Given the description of an element on the screen output the (x, y) to click on. 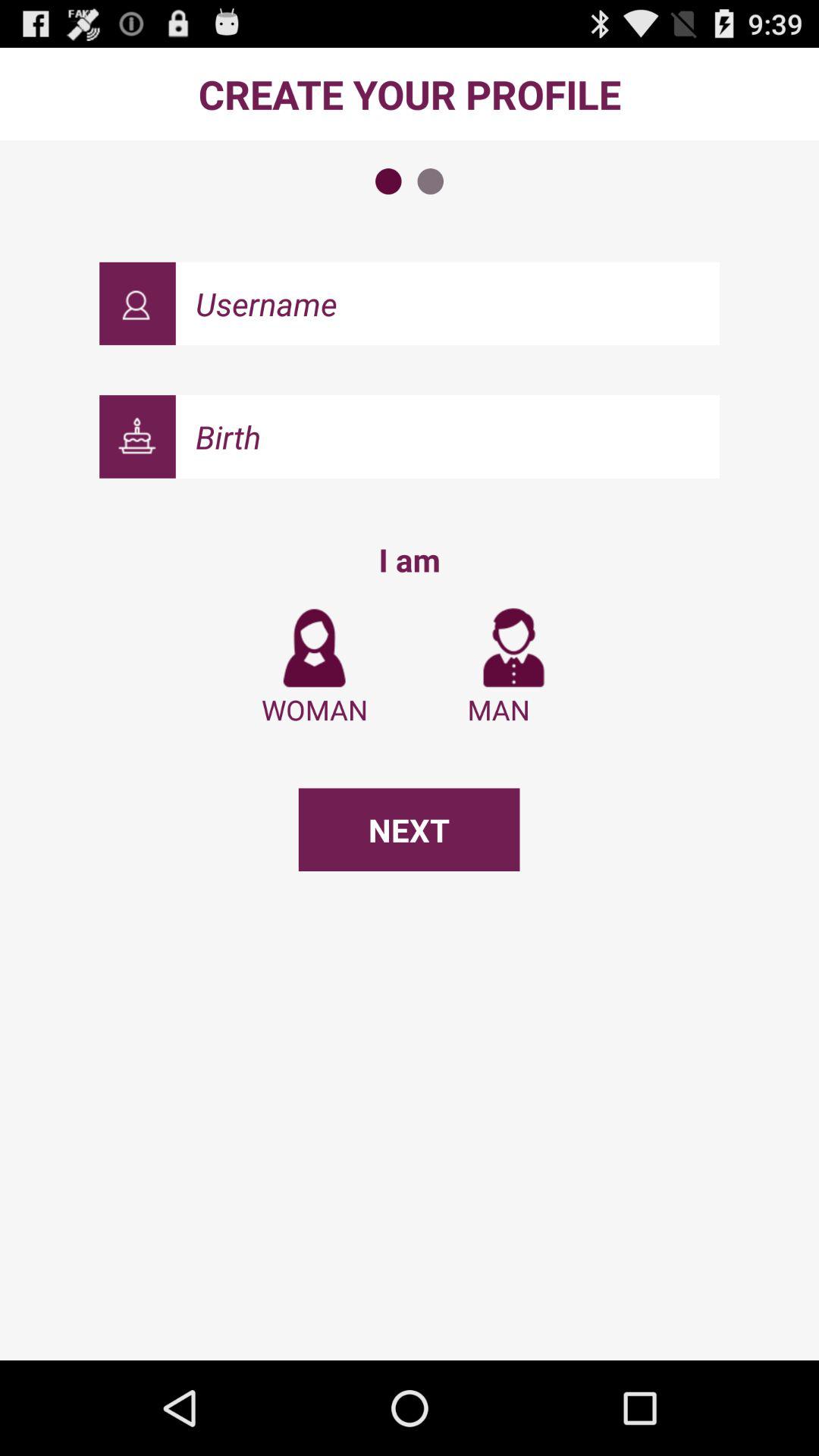
username (447, 303)
